Given the description of an element on the screen output the (x, y) to click on. 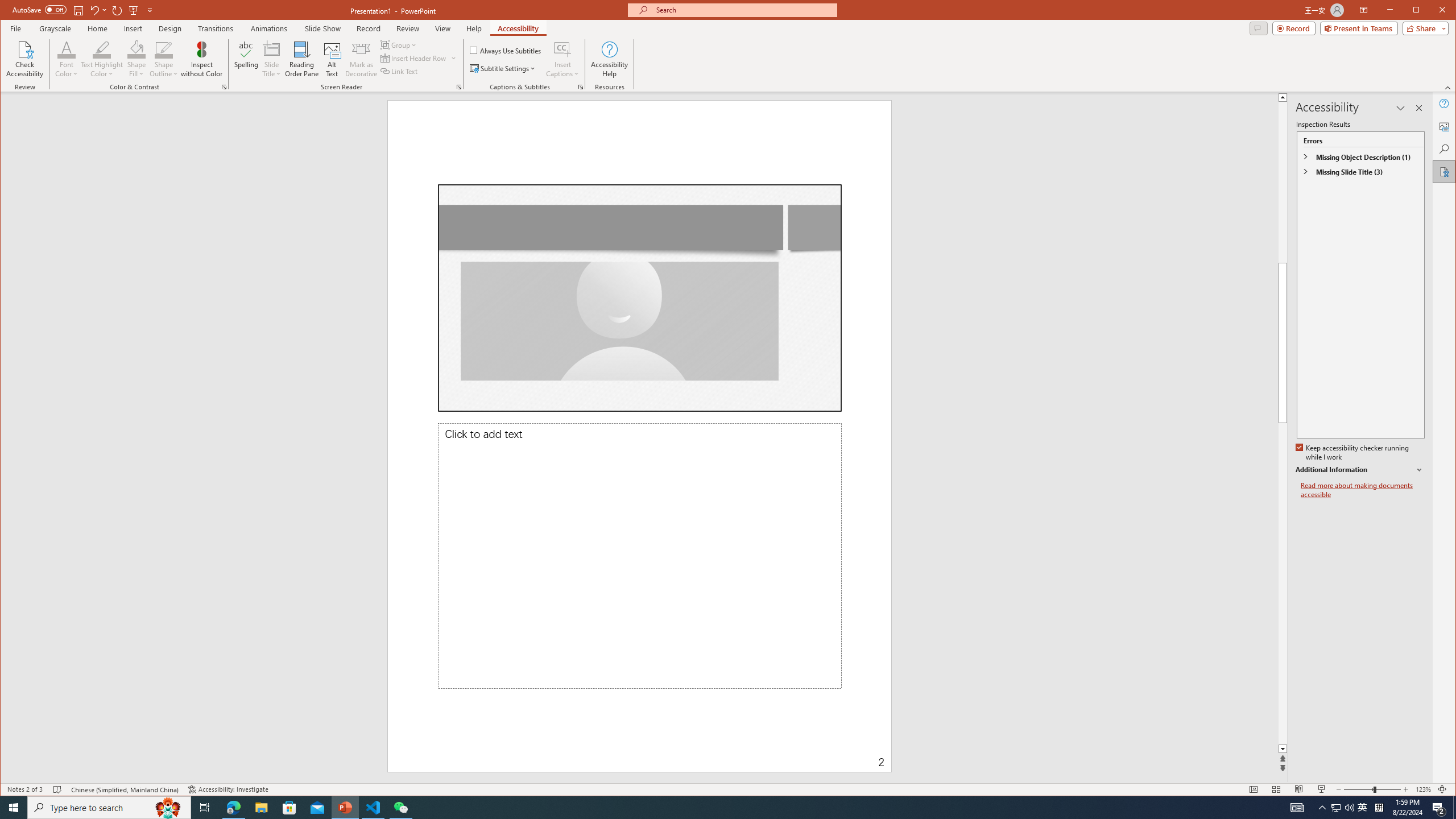
Screen Reader (458, 86)
